Given the description of an element on the screen output the (x, y) to click on. 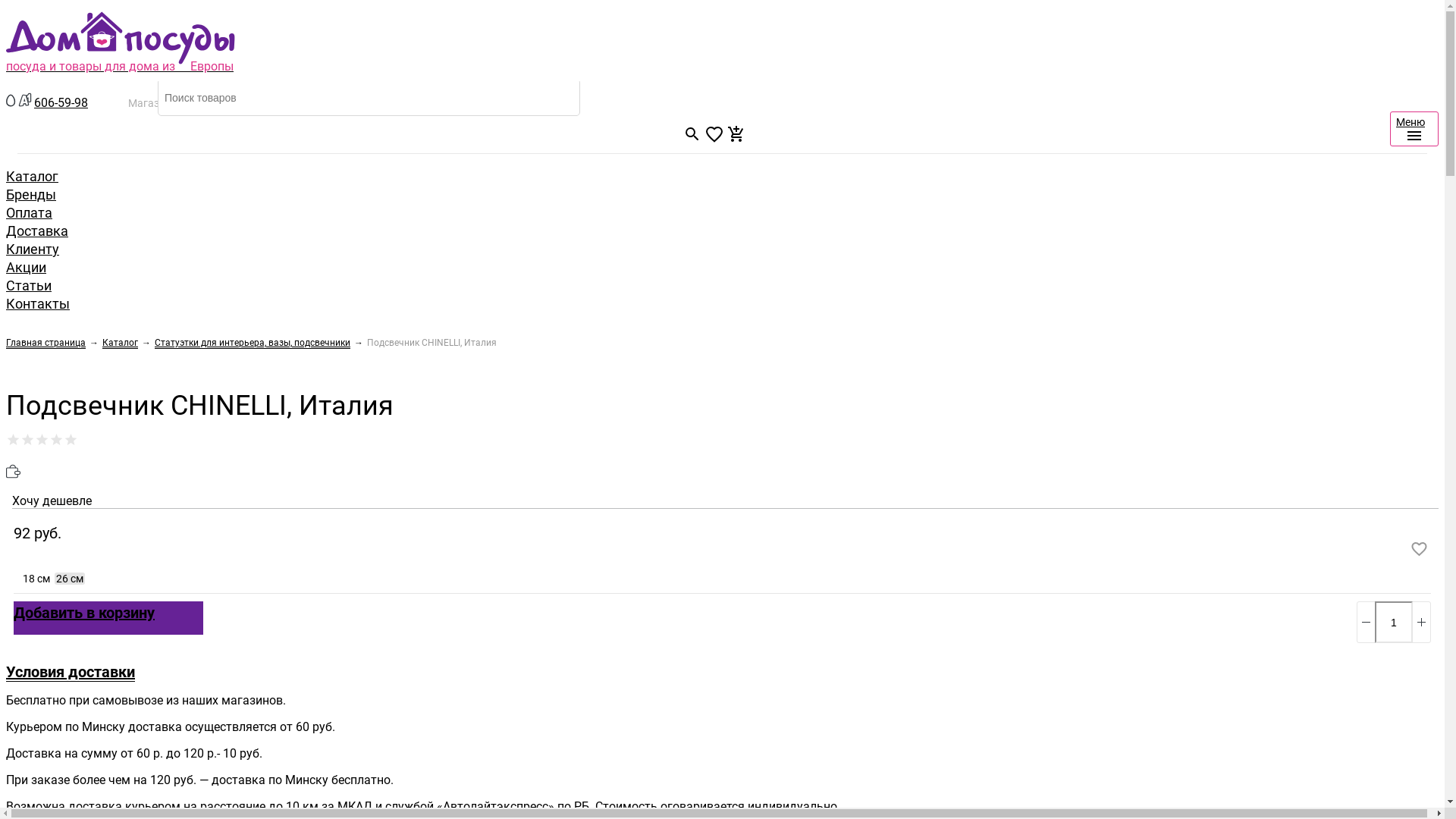
606-59-98 Element type: text (60, 102)
